Given the description of an element on the screen output the (x, y) to click on. 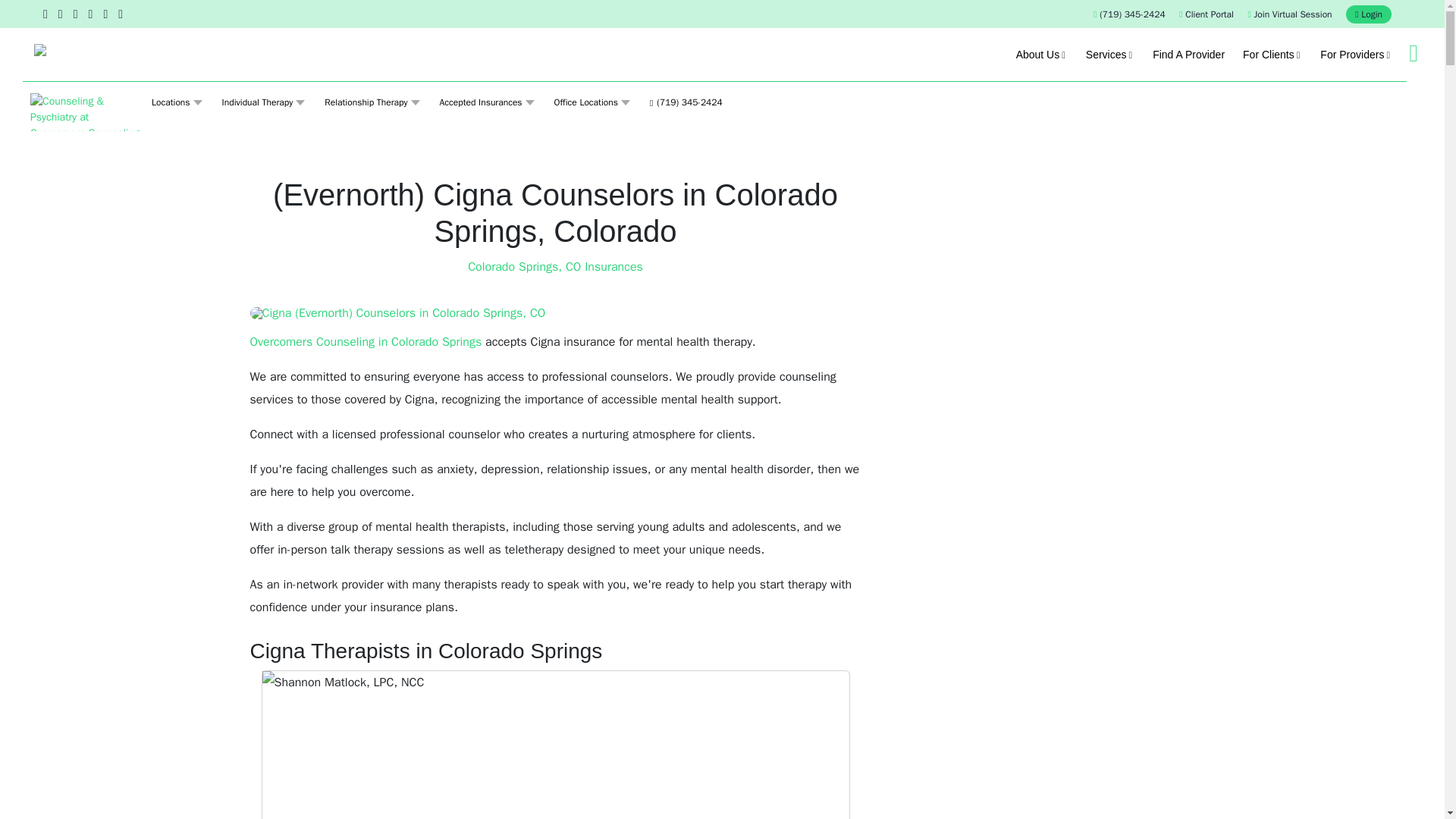
Client Portal (1206, 14)
Services (1109, 54)
About Us (1042, 54)
Menu (1412, 52)
For Clients (1272, 54)
Login (1368, 13)
Join Virtual Session (1289, 14)
Find A Provider (1187, 54)
